Given the description of an element on the screen output the (x, y) to click on. 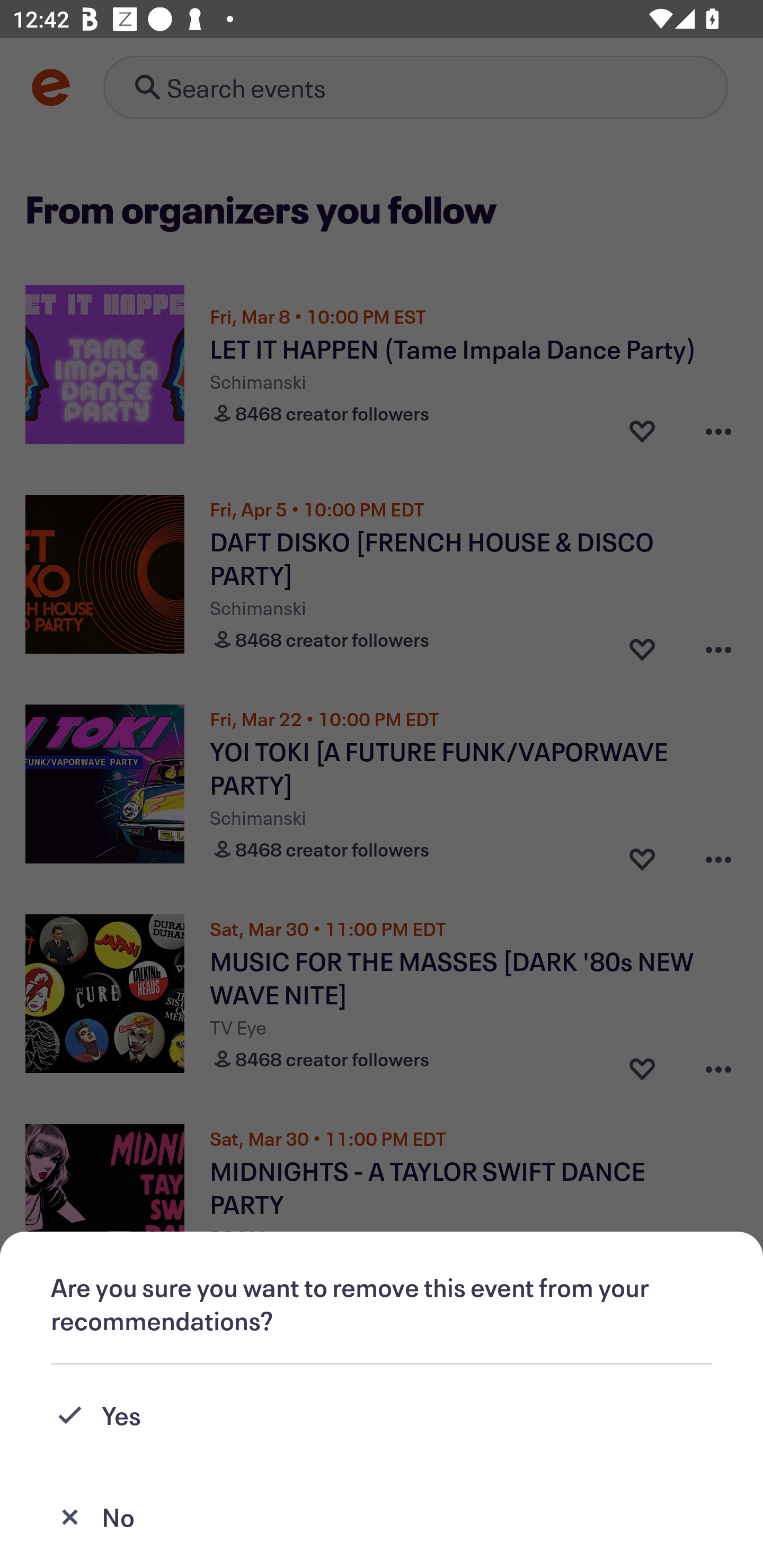
Yes (381, 1415)
No (381, 1517)
